Given the description of an element on the screen output the (x, y) to click on. 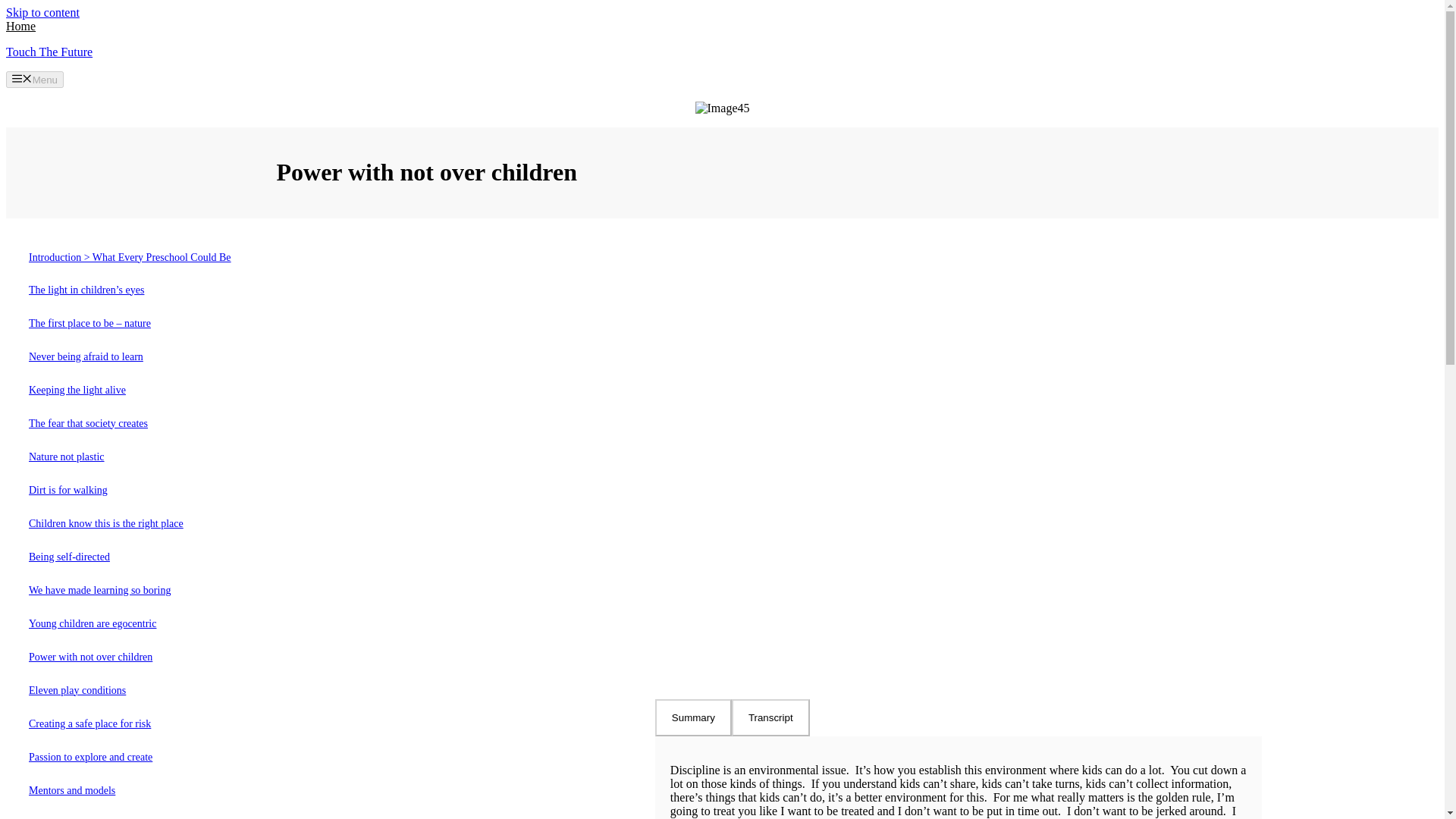
Power with not over children (90, 656)
We have made learning so boring (99, 590)
Passion to explore and create (90, 757)
Skip to content (42, 11)
Skip to content (42, 11)
Touch The Future (49, 51)
Menu (34, 79)
Creating a safe place for risk (90, 724)
Dirt is for walking (68, 490)
Eleven play conditions (77, 690)
Being self-directed (69, 557)
The fear that society creates (88, 423)
Never being afraid to learn (85, 357)
Young children are egocentric (92, 624)
